Given the description of an element on the screen output the (x, y) to click on. 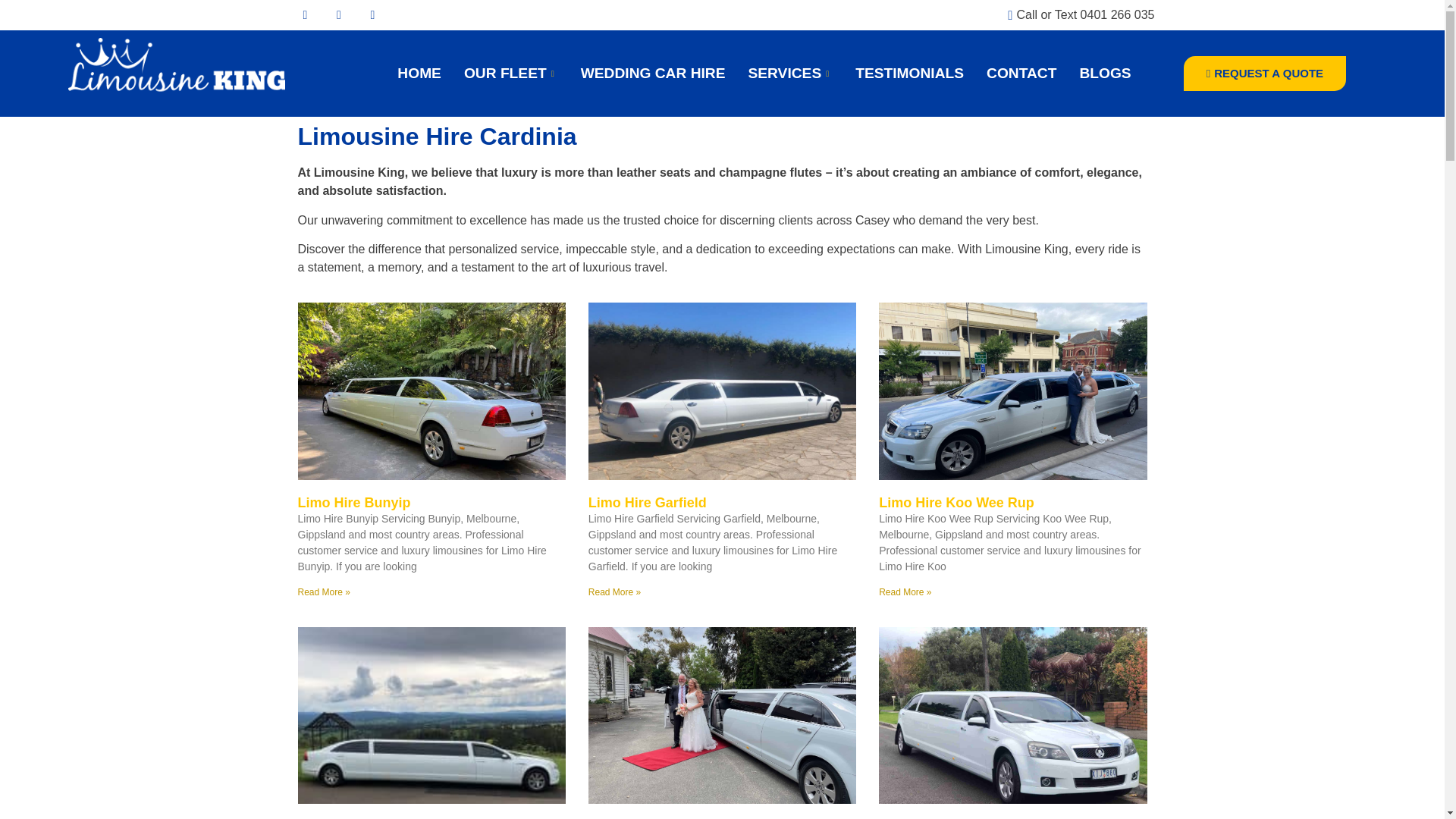
SERVICES (790, 73)
WEDDING CAR HIRE (652, 73)
CONTACT (1021, 73)
REQUEST A QUOTE (1264, 73)
BLOGS (1104, 73)
HOME (418, 73)
TESTIMONIALS (909, 73)
Call or Text 0401 266 035 (1074, 14)
OUR FLEET (510, 73)
